Given the description of an element on the screen output the (x, y) to click on. 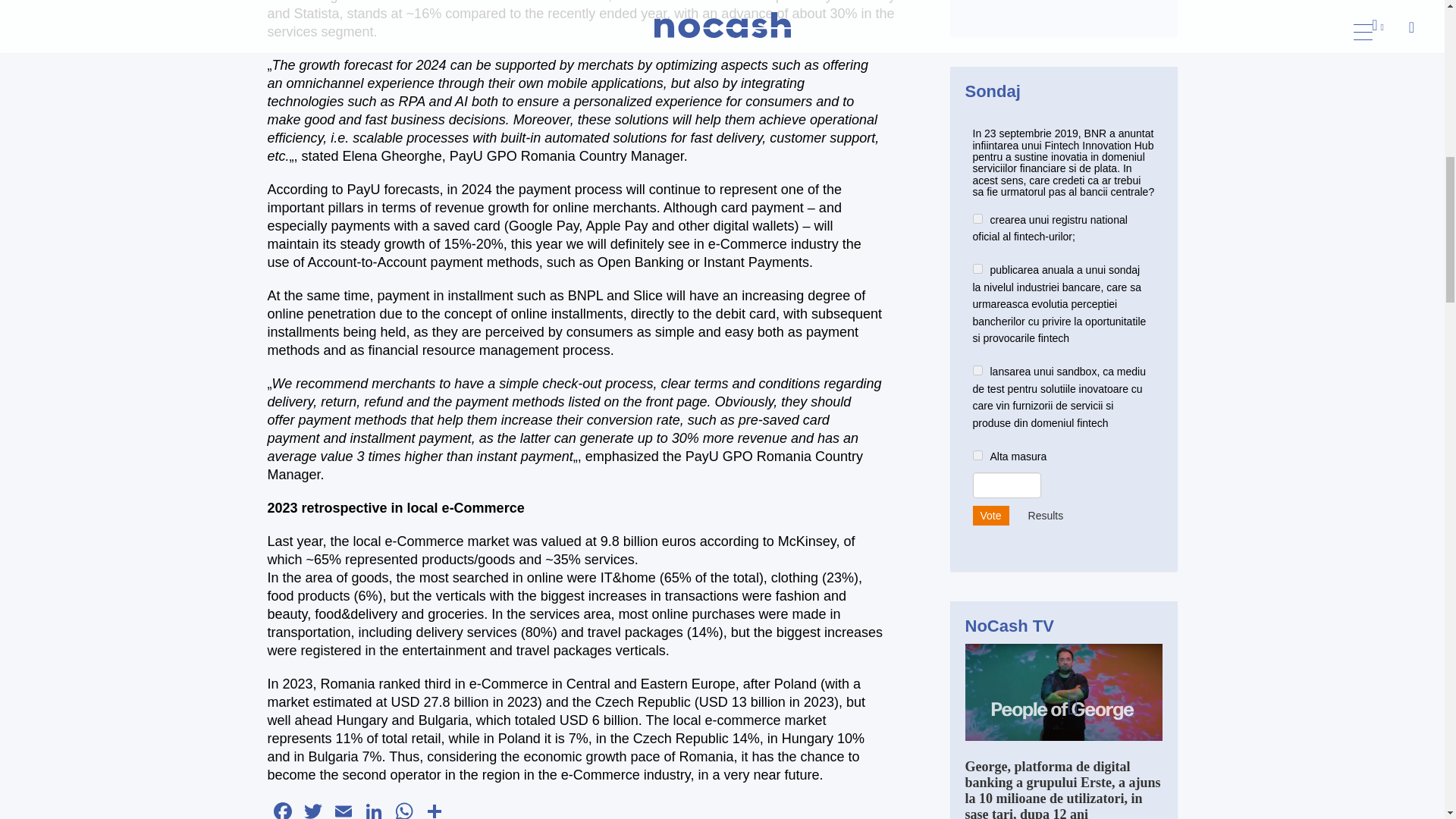
LinkedIn (373, 809)
Facebook (281, 809)
22 (976, 268)
23 (976, 370)
WhatsApp (403, 809)
Email (342, 809)
Twitter (312, 809)
21 (976, 218)
0 (976, 455)
